Given the description of an element on the screen output the (x, y) to click on. 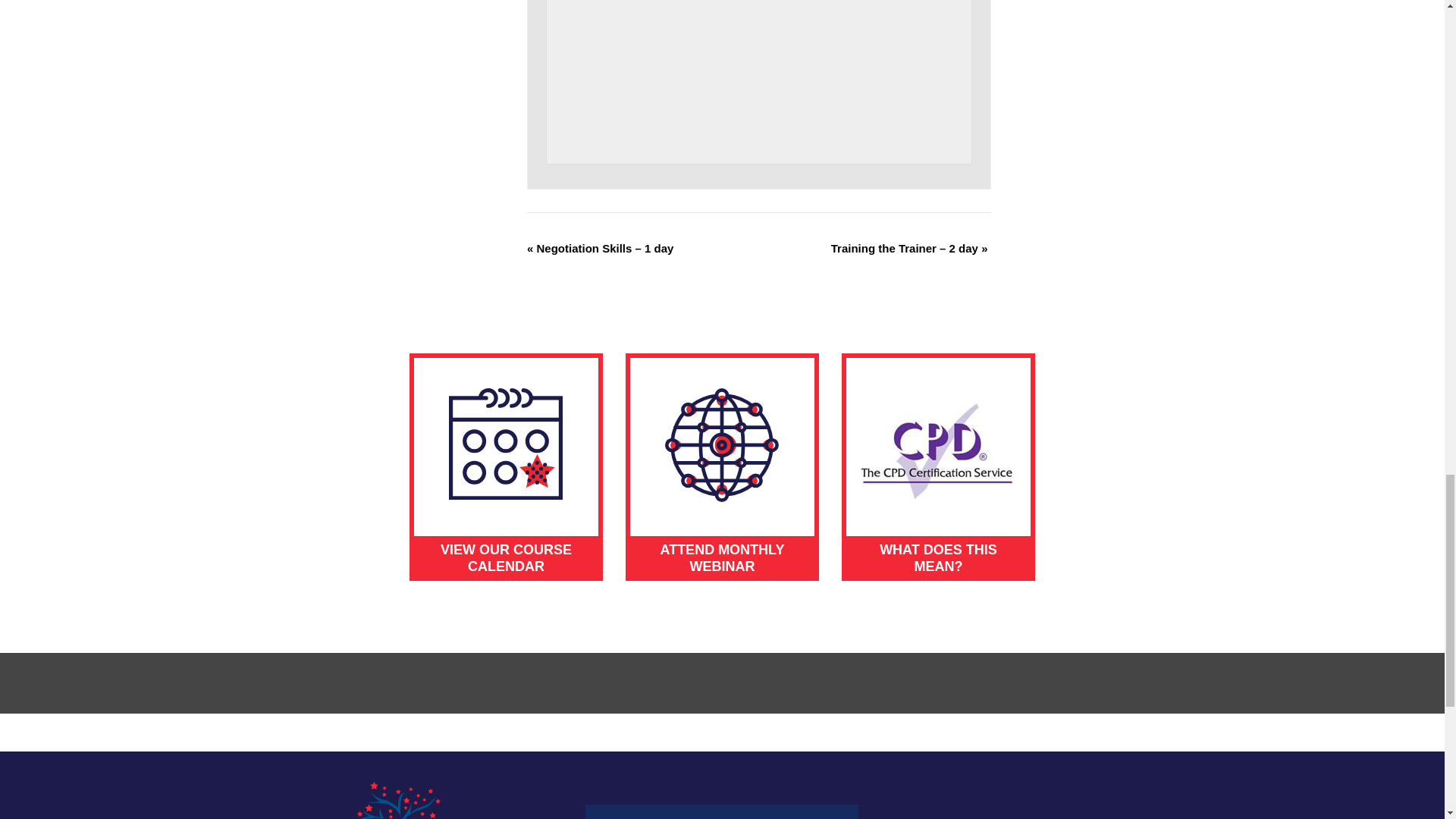
Total Success Training (397, 800)
